Given the description of an element on the screen output the (x, y) to click on. 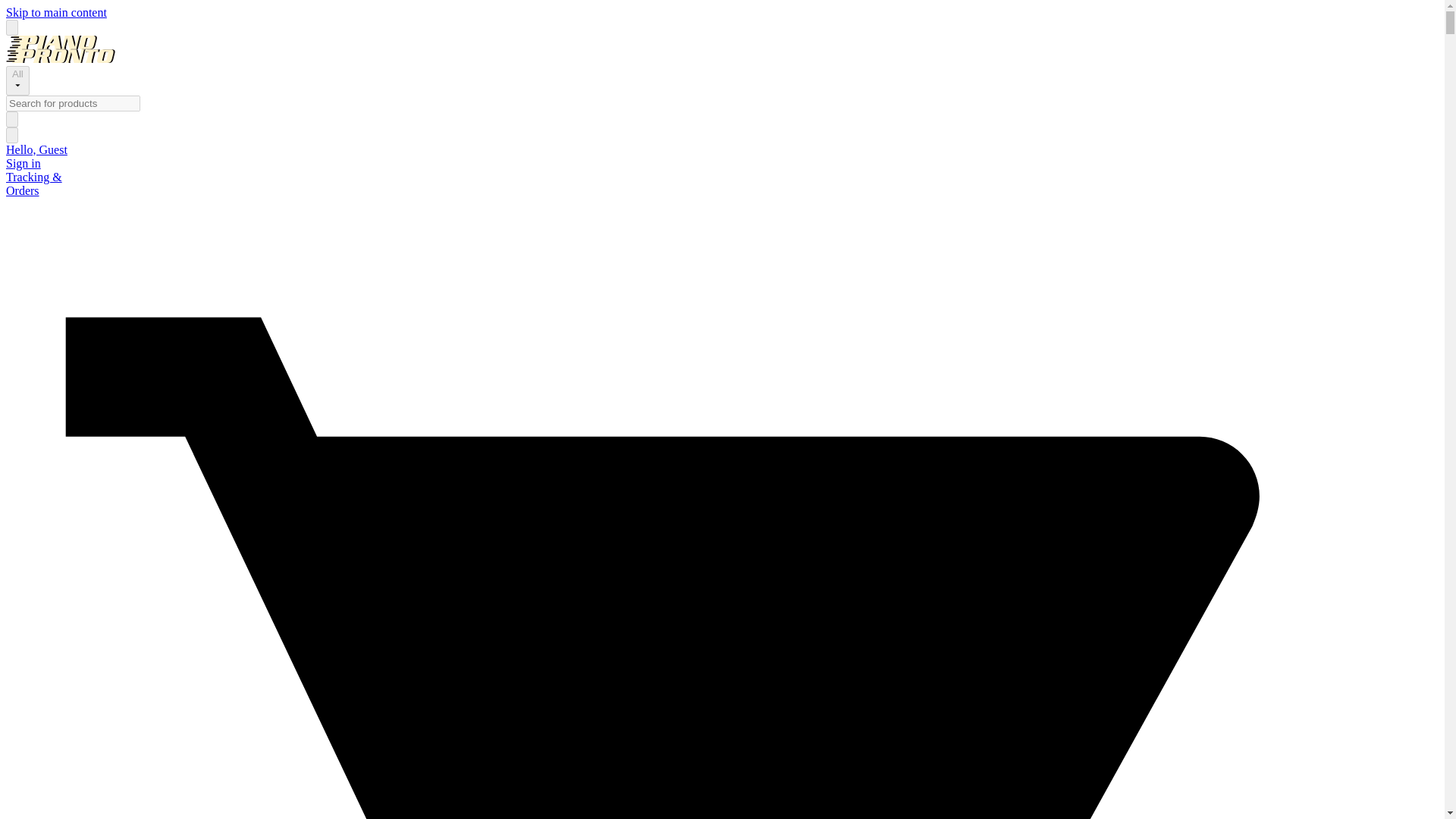
Skip to main content (55, 11)
